Given the description of an element on the screen output the (x, y) to click on. 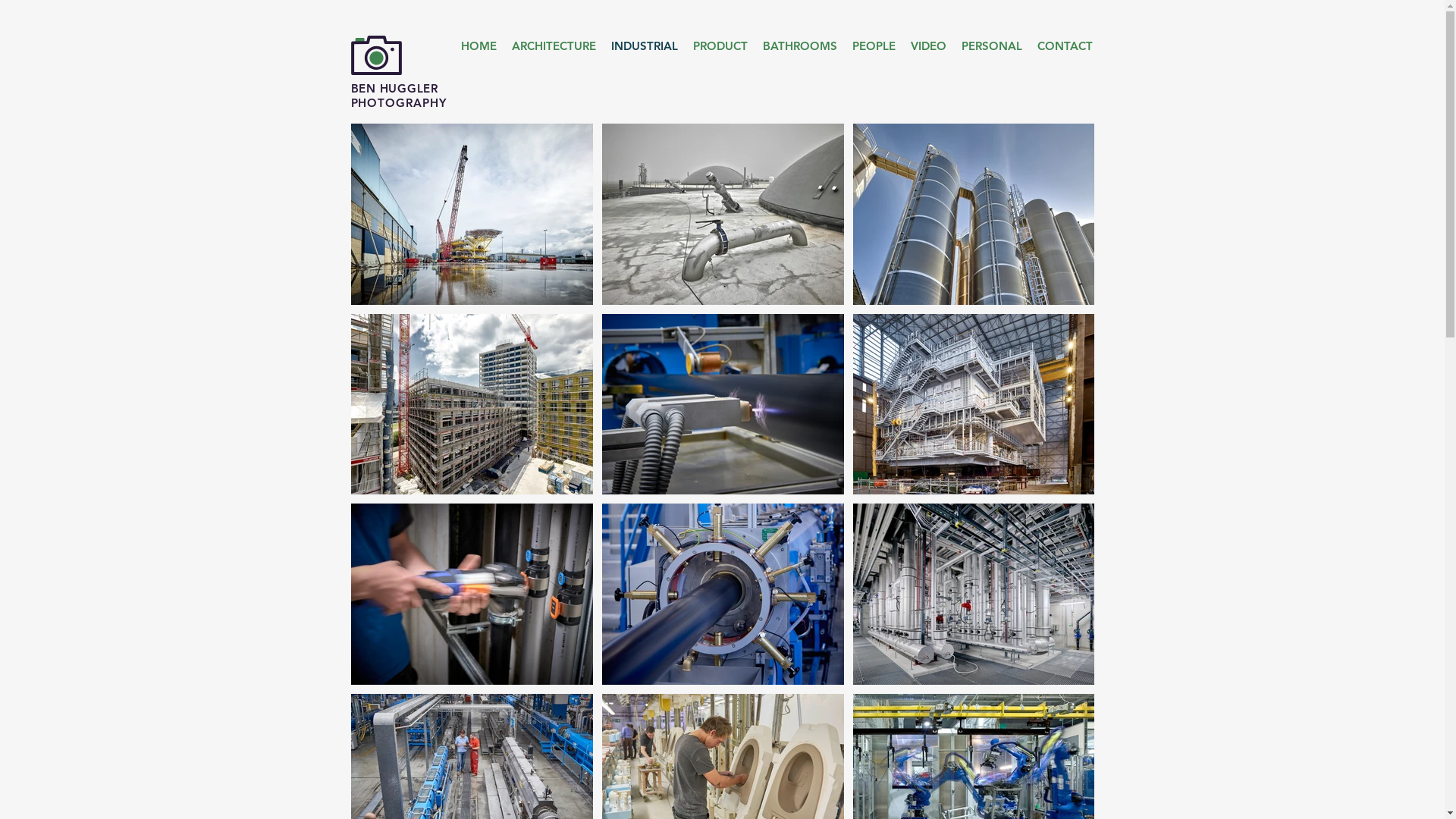
BEN HUGGLER Element type: text (393, 88)
BATHROOMS Element type: text (799, 46)
HOME Element type: text (478, 46)
PEOPLE Element type: text (873, 46)
PERSONAL Element type: text (991, 46)
PHOTOGRAPHY Element type: text (397, 102)
ARCHITECTURE Element type: text (552, 46)
INDUSTRIAL Element type: text (644, 46)
VIDEO Element type: text (927, 46)
CONTACT Element type: text (1064, 46)
PRODUCT Element type: text (720, 46)
